Given the description of an element on the screen output the (x, y) to click on. 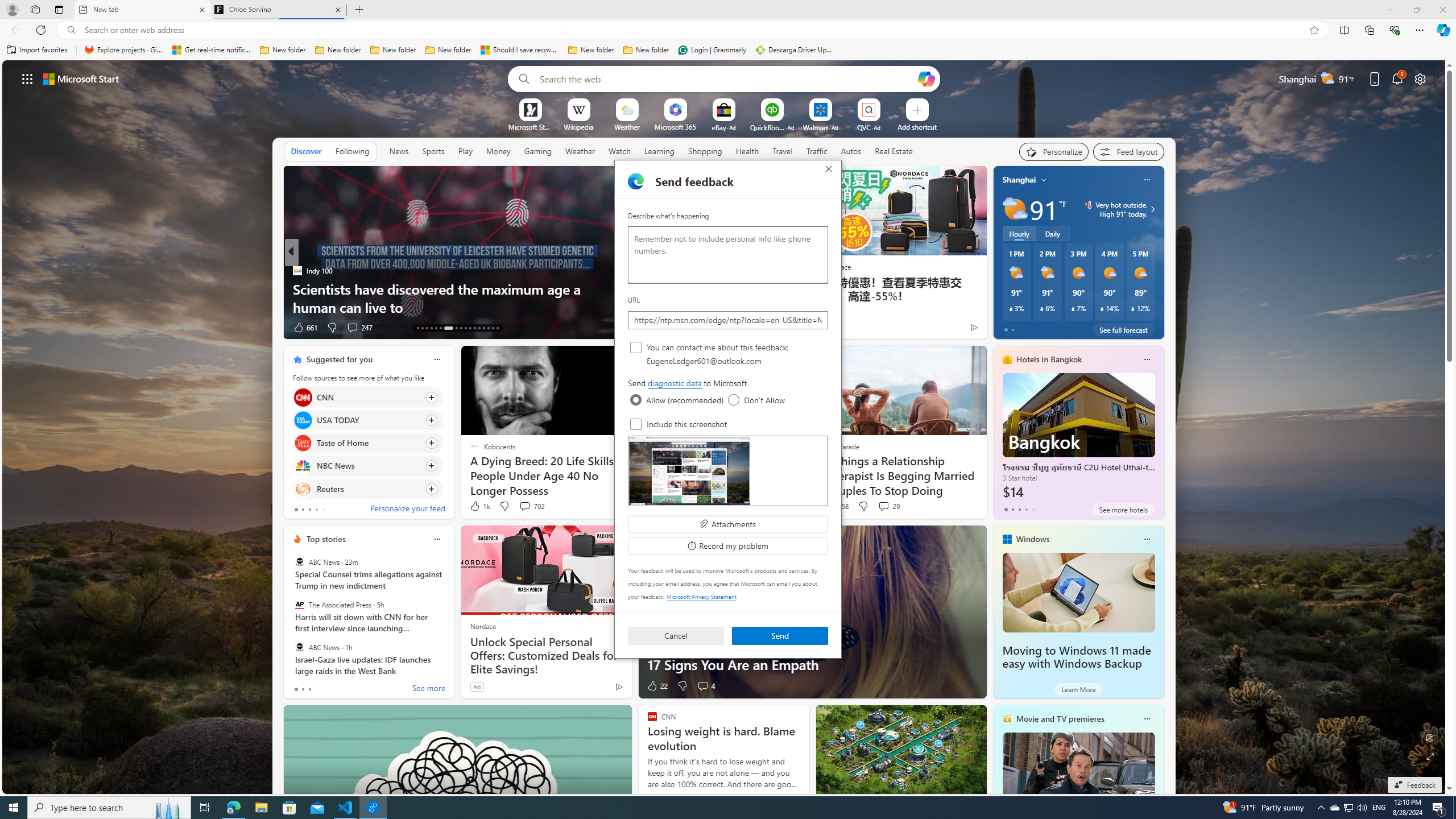
Travel (782, 151)
AutomationID: tab-25 (478, 328)
Traffic (816, 151)
Learning (659, 151)
Hourly (1018, 233)
Don't Allow (733, 399)
Real Estate (893, 151)
AutomationID: tab-17 (435, 328)
URL (727, 319)
AutomationID: tab-21 (1333, 807)
NBC News (460, 328)
New folder (302, 466)
Autos (646, 49)
